Given the description of an element on the screen output the (x, y) to click on. 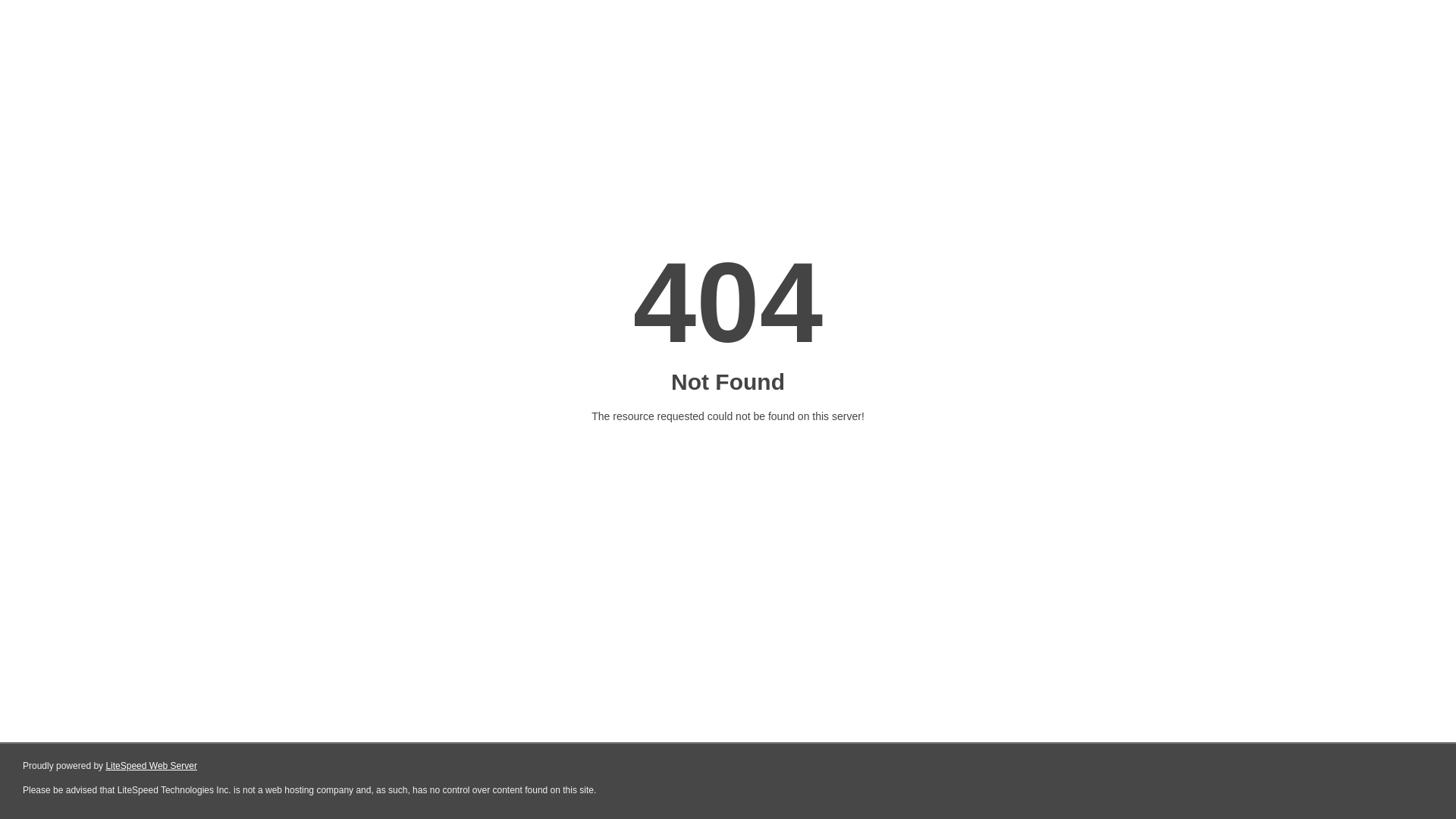
LiteSpeed Web Server Element type: text (151, 765)
